Given the description of an element on the screen output the (x, y) to click on. 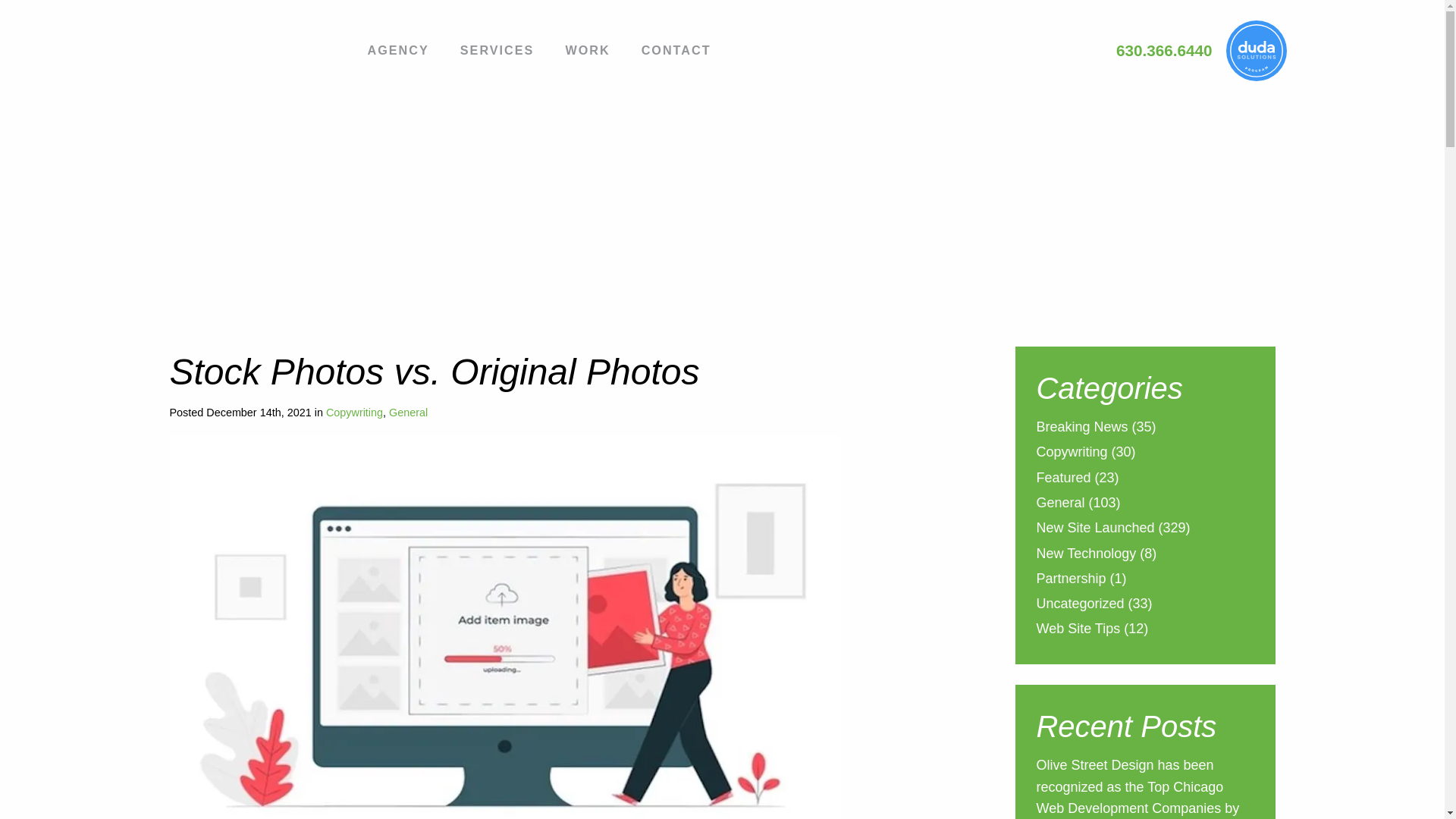
AGENCY (397, 52)
Copywriting (1070, 453)
Uncategorized (1079, 605)
Featured (1062, 479)
Olive Street Design (248, 45)
CONTACT (676, 52)
General (408, 412)
Copywriting (354, 412)
New Site Launched (1094, 529)
